Given the description of an element on the screen output the (x, y) to click on. 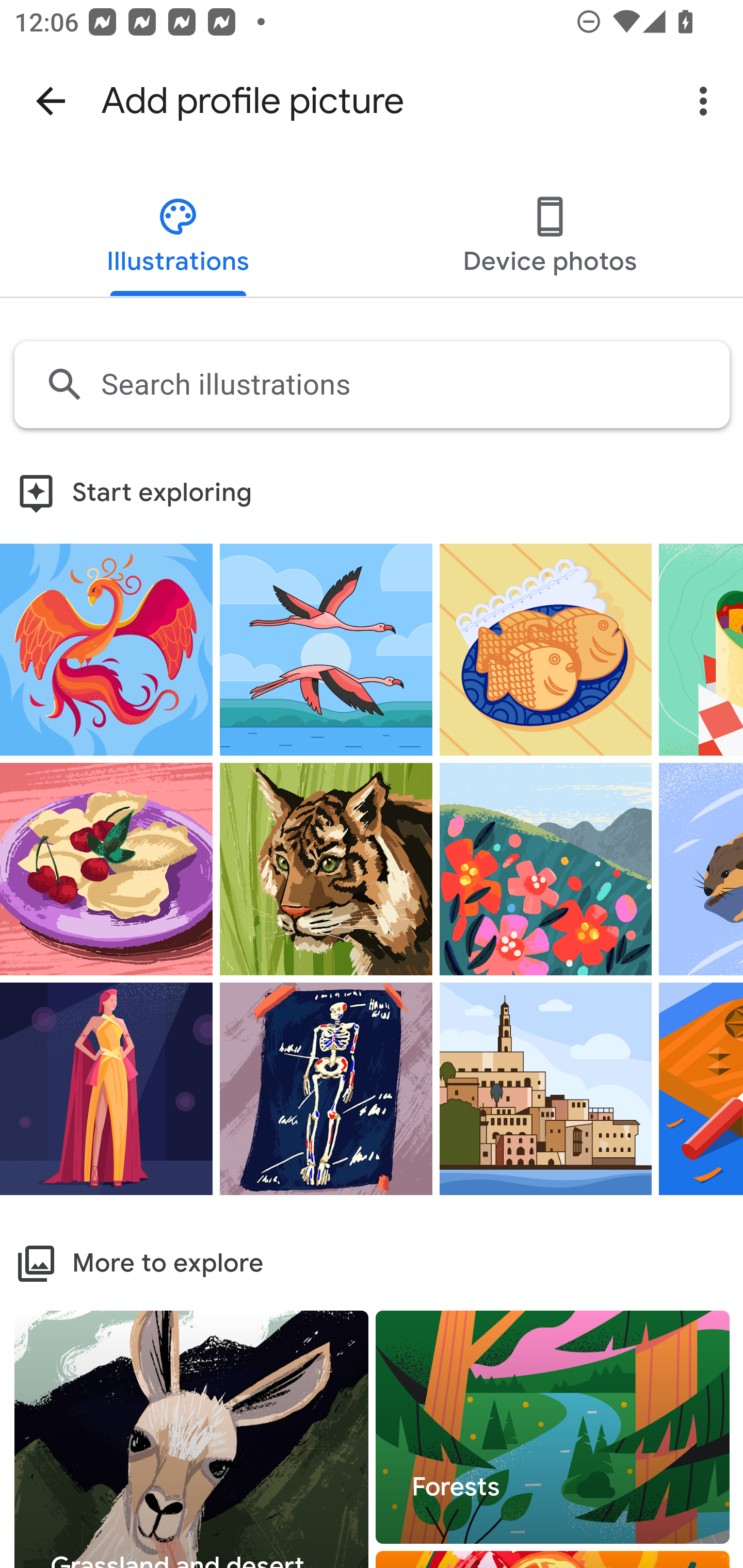
Navigate up (50, 101)
More options (706, 101)
Illustrations (178, 238)
Device photos (549, 238)
Firebird flying (106, 647)
Flamingos flying over a lake (325, 647)
Taiyaki, Japanese fish-shaped cake (545, 647)
Vareniki served on plate with cherries (106, 869)
Close up of tiger head in the savanna (325, 869)
Meadow full of wild flowers (545, 869)
Person wearing an evening gown (106, 1087)
Skeleton sketch with labels (325, 1087)
Jaffa ancient port city in Israel (545, 1087)
Grassland and desert mammals (192, 1438)
Forests (553, 1427)
